Given the description of an element on the screen output the (x, y) to click on. 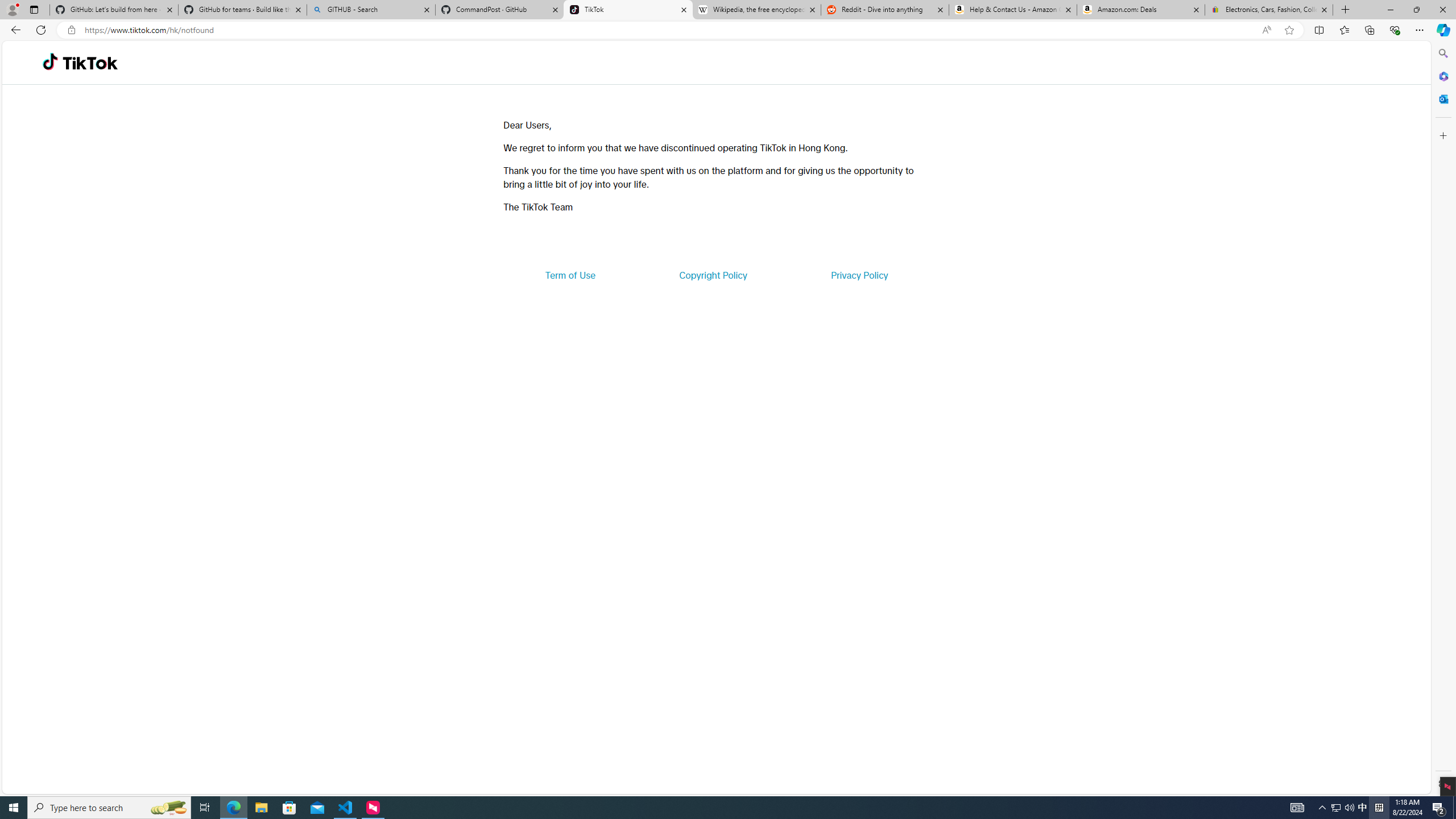
TikTok (89, 62)
Help & Contact Us - Amazon Customer Service (1012, 9)
Copyright Policy (712, 274)
Wikipedia, the free encyclopedia (756, 9)
Term of Use (569, 274)
